Given the description of an element on the screen output the (x, y) to click on. 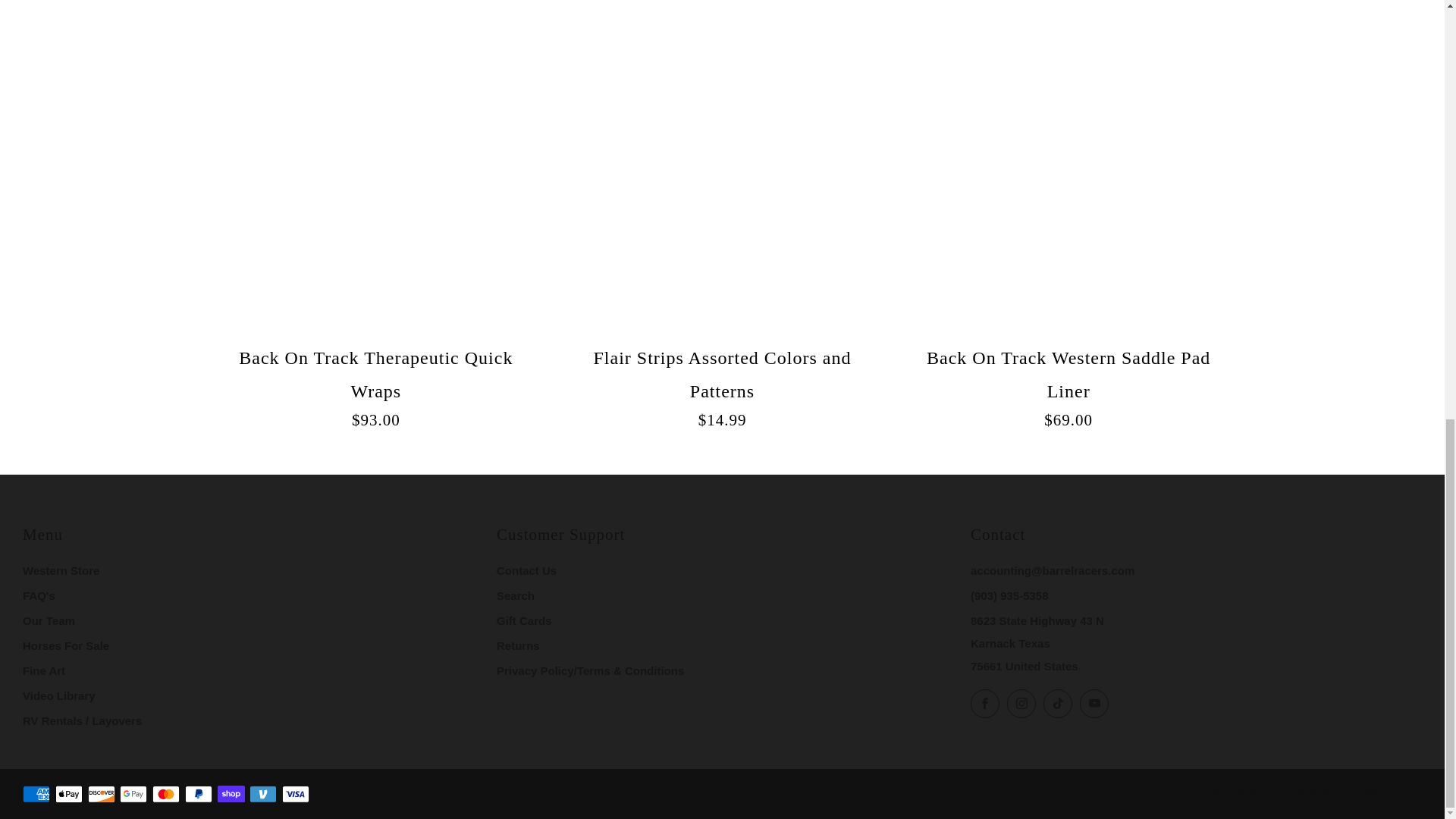
Back On Track Western Saddle Pad Liner (1068, 384)
Flair Strips Assorted Colors and Patterns (721, 384)
Back On Track Therapeutic Quick Wraps (376, 384)
